Given the description of an element on the screen output the (x, y) to click on. 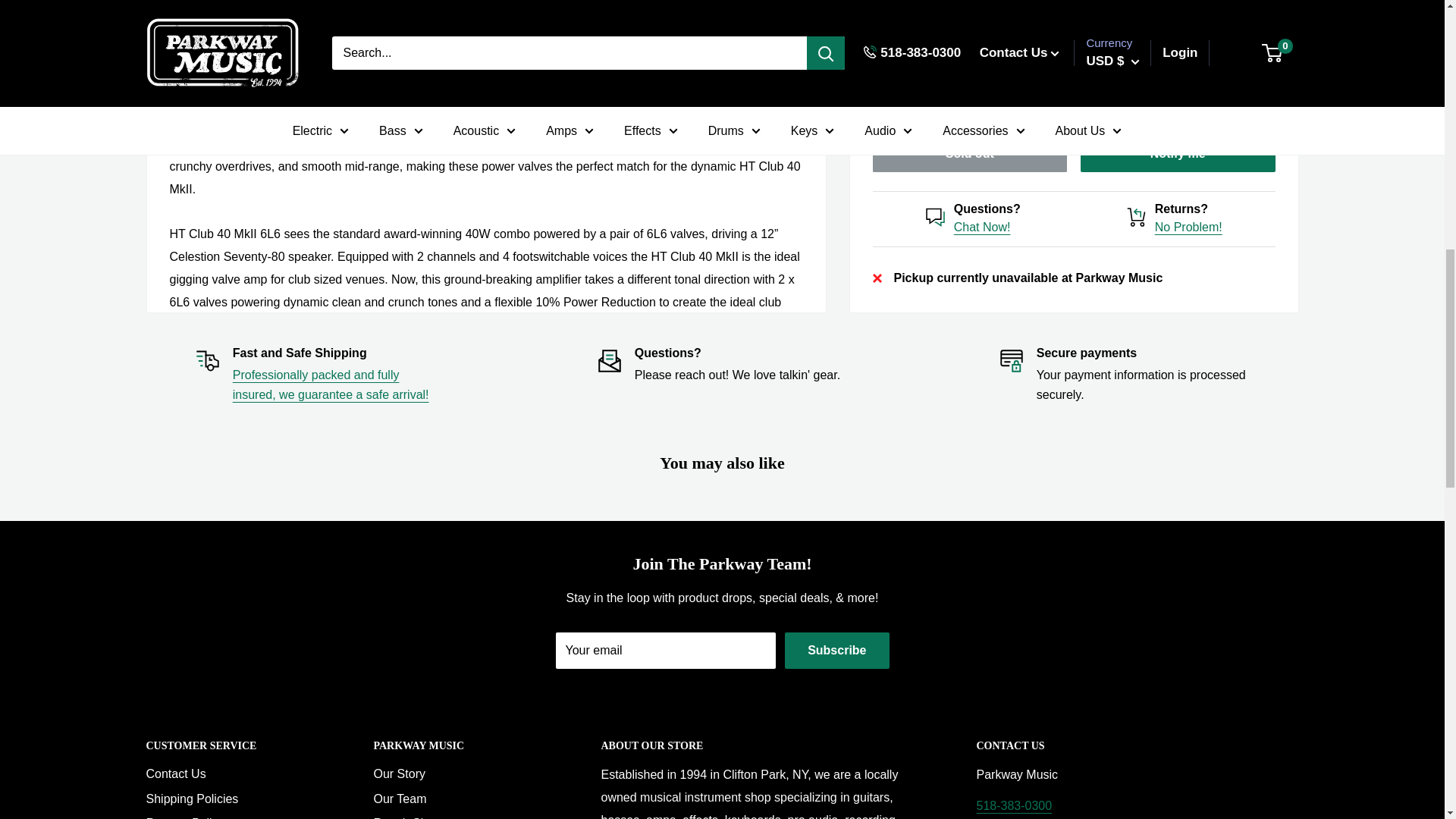
tel:518-383-0300 (1014, 805)
